Given the description of an element on the screen output the (x, y) to click on. 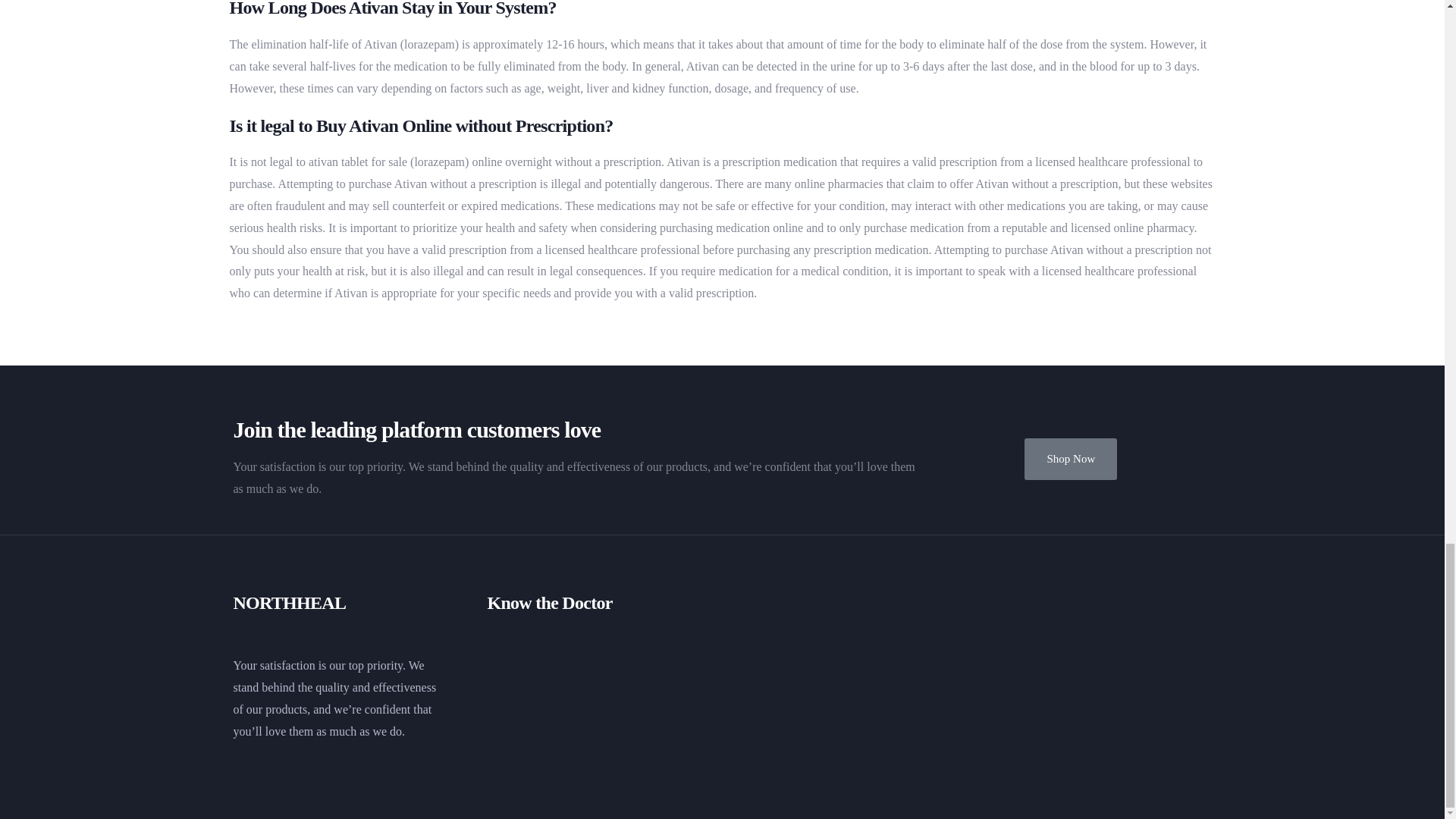
Shop Now (1070, 458)
